Given the description of an element on the screen output the (x, y) to click on. 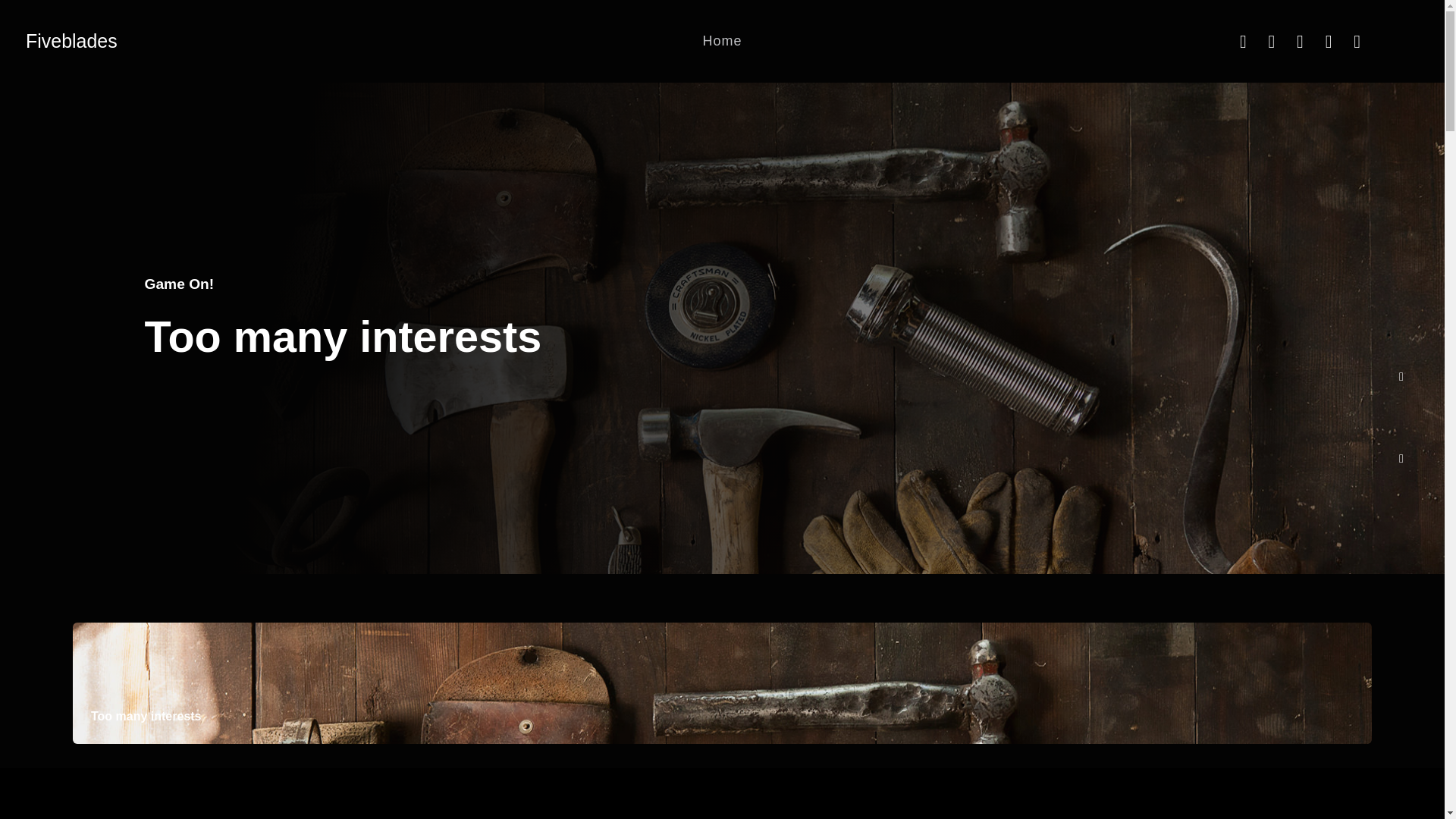
Fiveblades (71, 40)
Home (722, 40)
Too many interests (342, 336)
